Given the description of an element on the screen output the (x, y) to click on. 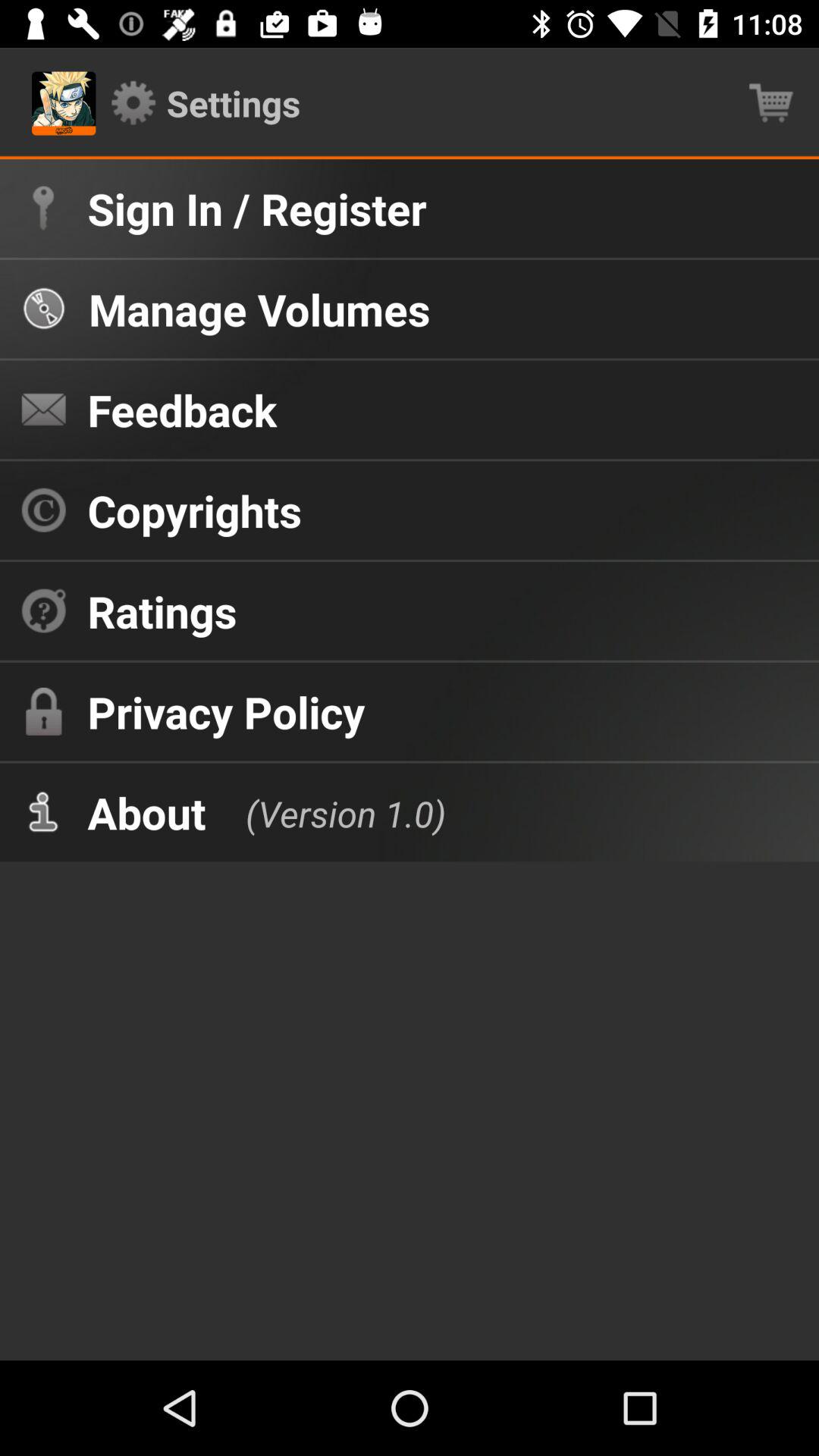
tap the item to the right of about icon (330, 812)
